Given the description of an element on the screen output the (x, y) to click on. 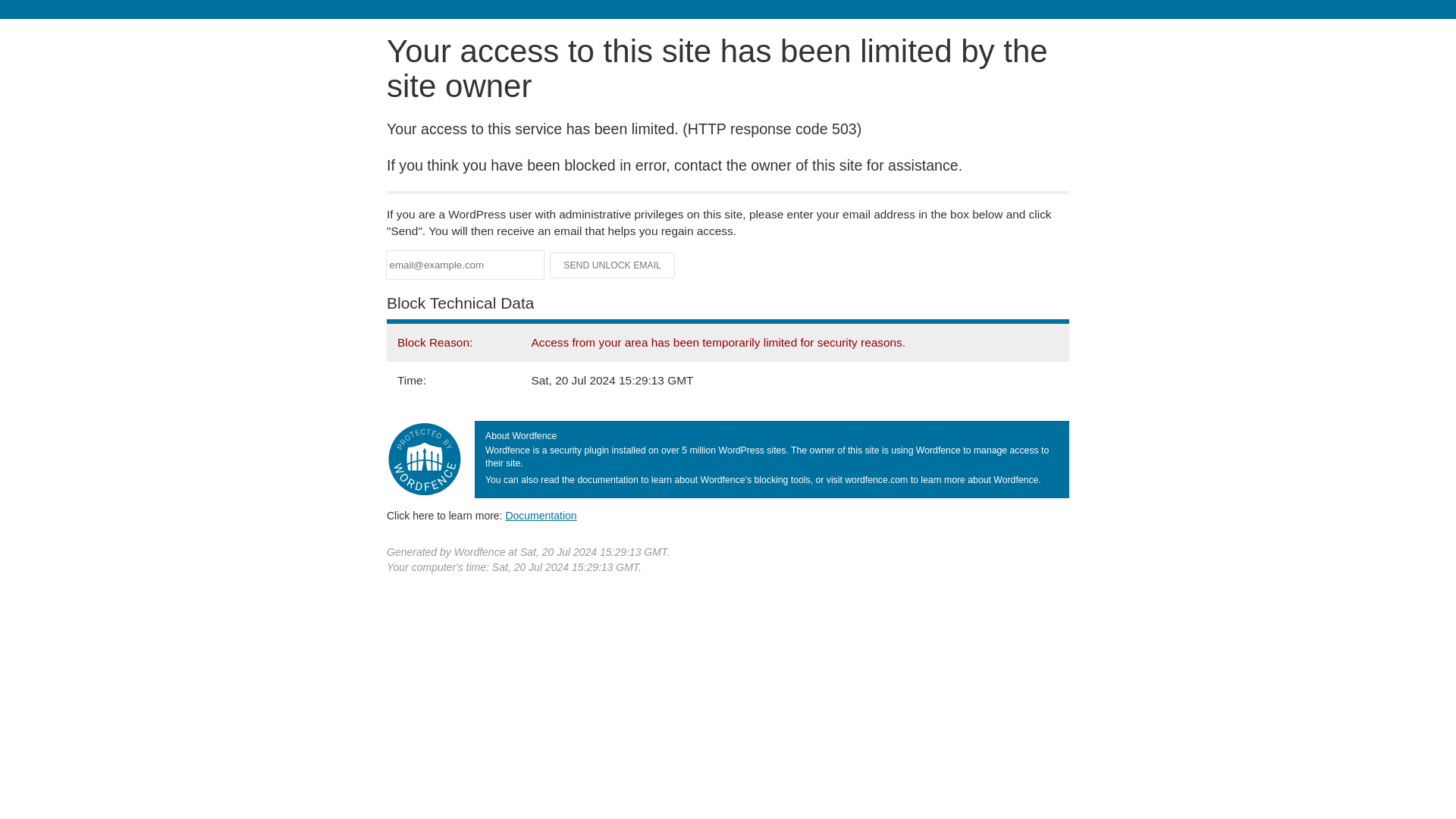
Documentation (540, 515)
Send Unlock Email (612, 265)
Send Unlock Email (612, 265)
